Given the description of an element on the screen output the (x, y) to click on. 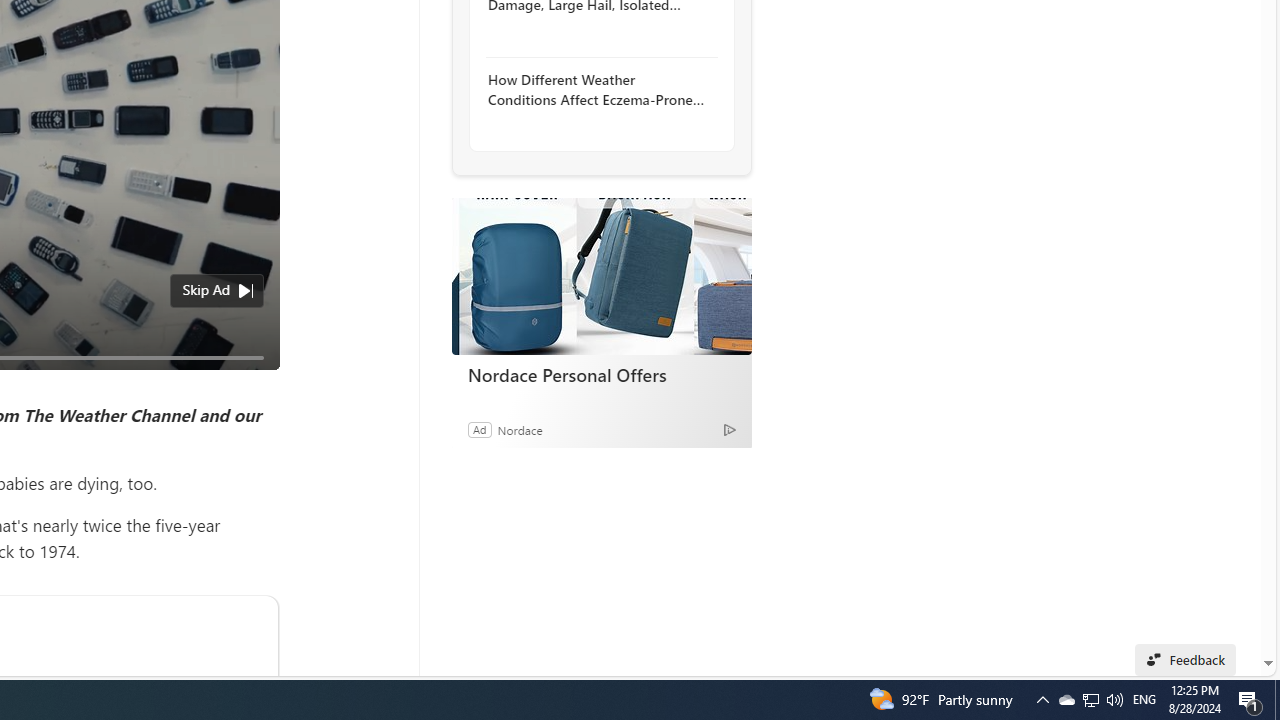
Skip Ad (205, 290)
Nordace Personal Offers (601, 276)
How Different Weather Conditions Affect Eczema-Prone Skin (596, 89)
Feedback (1185, 659)
Nordace Personal Offers (601, 374)
Unmute (253, 381)
Ad Choice (729, 429)
Ad (479, 429)
